Given the description of an element on the screen output the (x, y) to click on. 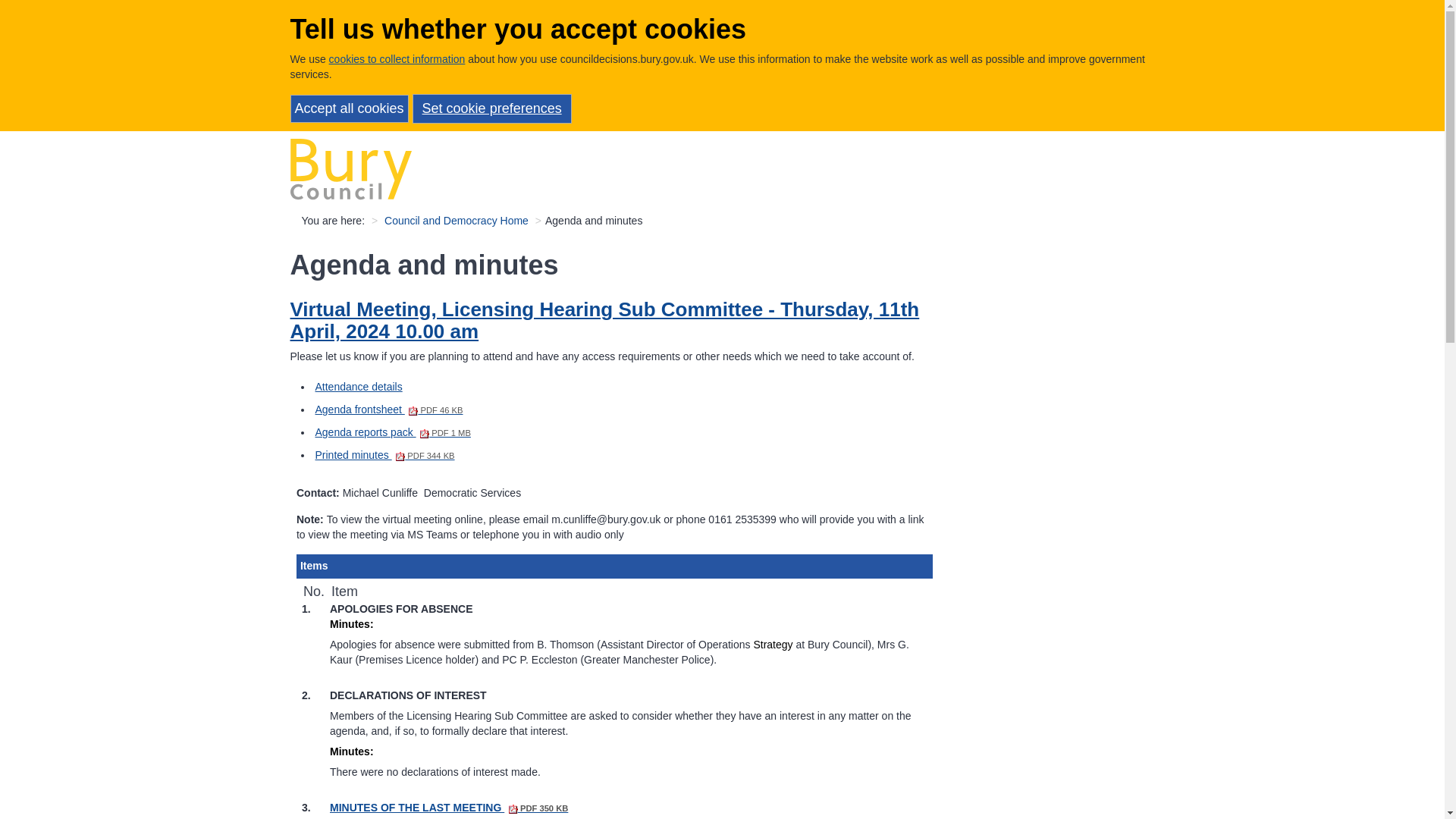
Link to agenda frontsheet pdf file (389, 409)
Attendance details (359, 386)
Link to printed minutes pdf file (384, 454)
Link to Licensing Hearing Sub Committee (603, 320)
Home (349, 168)
Printed minutes PDF 344 KB (384, 454)
Set cookie preferences (492, 109)
Council and Democracy Home (456, 220)
Link to agenda reports  document pack pdf file (392, 431)
MINUTES OF THE LAST MEETING PDF 350 KB (448, 807)
Accept all cookies (348, 109)
Agenda reports pack PDF 1 MB (392, 431)
cookies to collect information (397, 59)
